Given the description of an element on the screen output the (x, y) to click on. 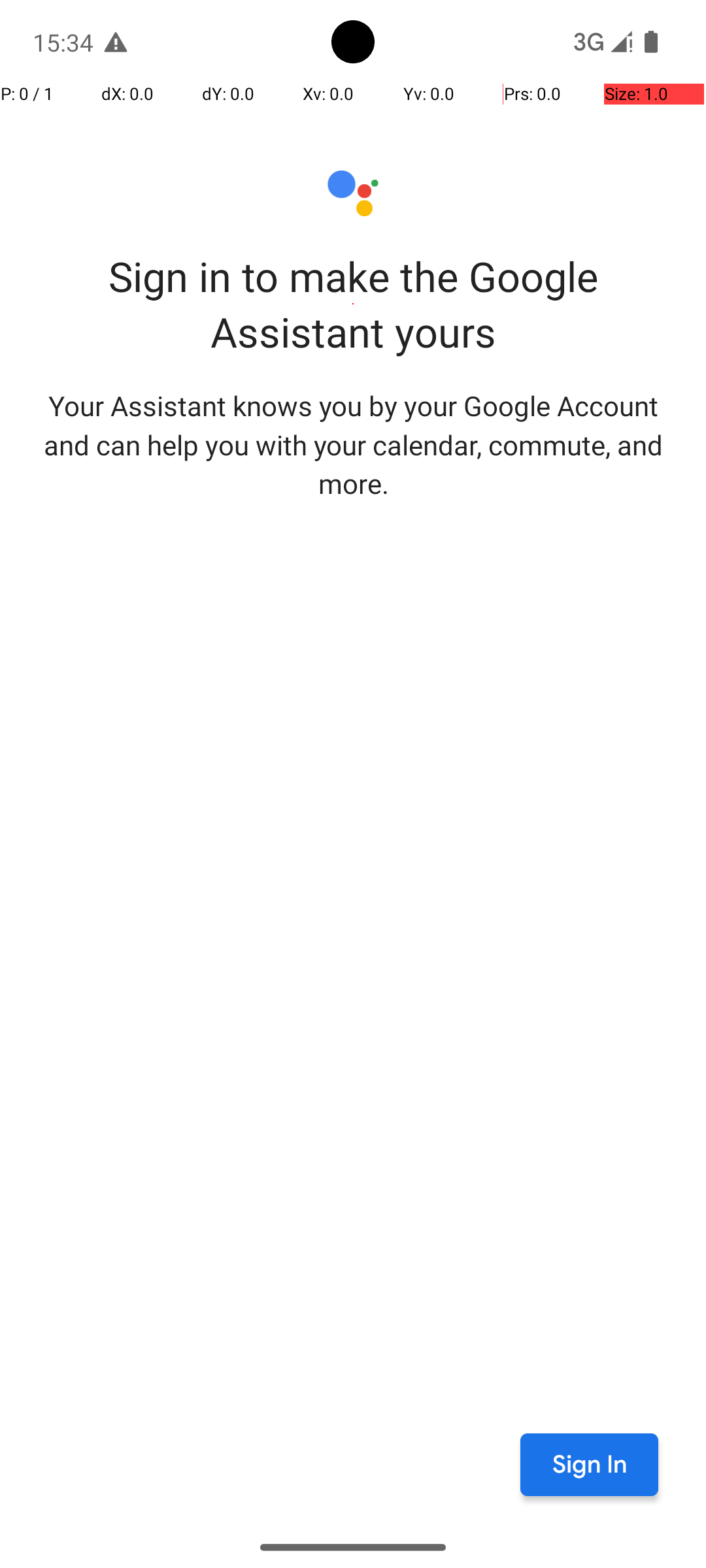
Sign In Element type: android.widget.Button (588, 1464)
Sign in to make the Google Assistant yours Element type: android.widget.TextView (352, 303)
Your Assistant knows you by your Google Account and can help you with your calendar, commute, and more. Element type: android.widget.TextView (352, 443)
